Given the description of an element on the screen output the (x, y) to click on. 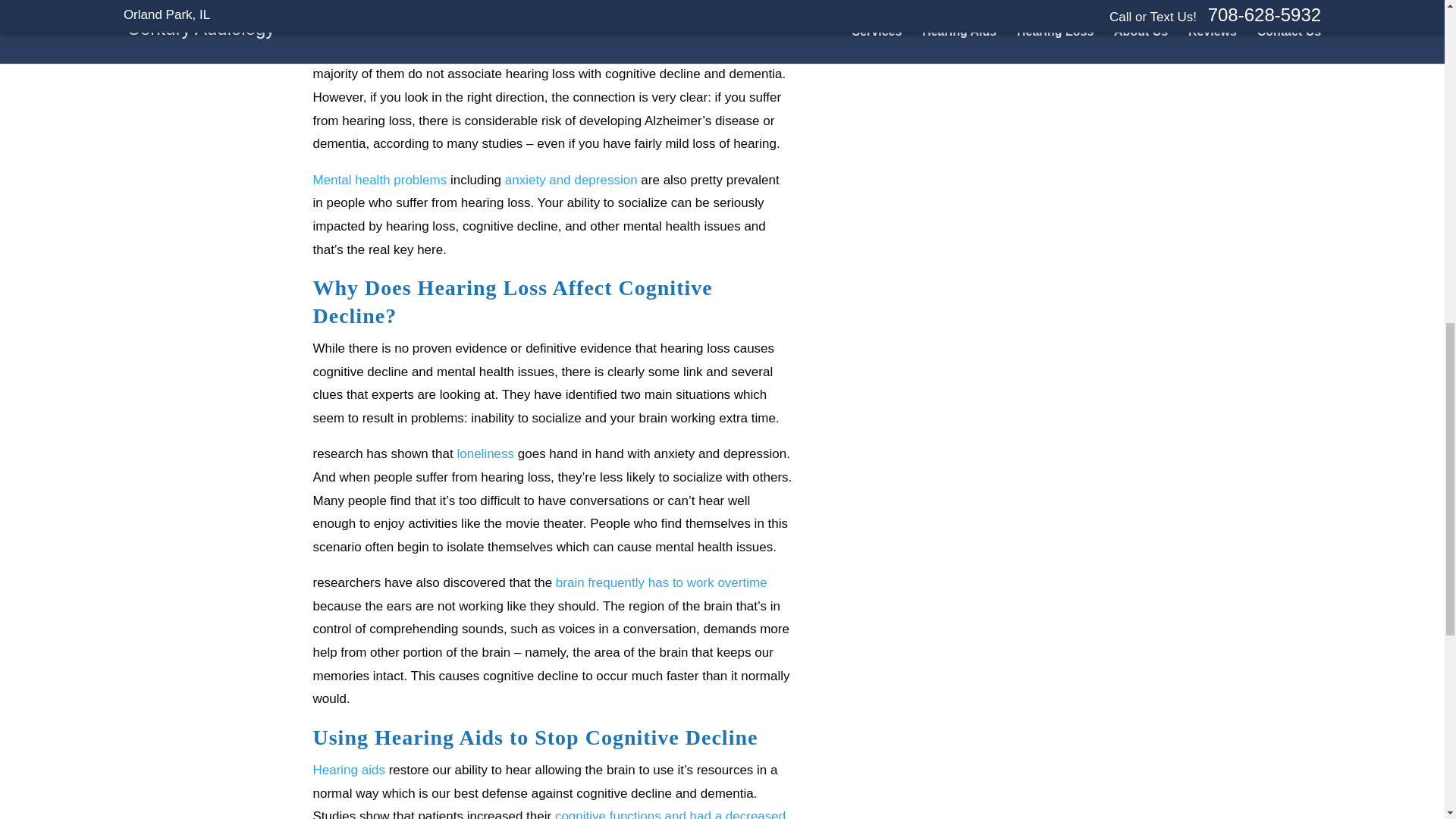
Mental health problems (379, 179)
brain frequently has to work overtime (661, 582)
Hearing aids (348, 769)
30 million people (425, 51)
cognitive functions and had a decreased rate of dementia (549, 814)
loneliness (485, 453)
anxiety and depression (571, 179)
